Given the description of an element on the screen output the (x, y) to click on. 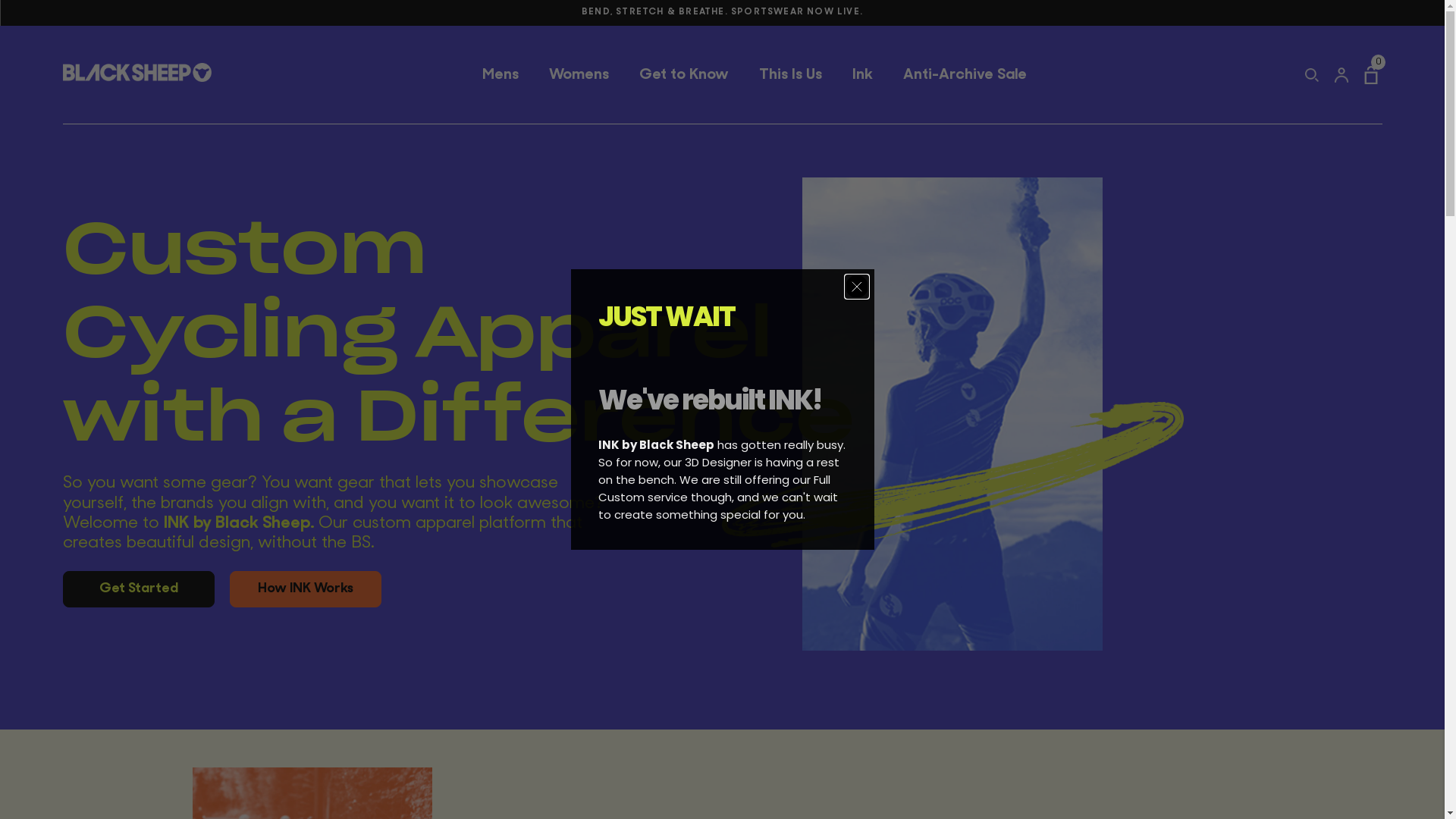
BEND, STRETCH & BREATHE. SPORTSWEAR NOW LIVE. Element type: text (721, 27)
Womens Element type: text (578, 74)
Close dialog 3 Element type: text (855, 286)
Anti-Archive Sale Element type: text (964, 74)
Mens Element type: text (500, 74)
Ink Element type: text (862, 74)
0 Element type: text (1372, 74)
Get Started Element type: text (137, 589)
FREE SHIPPING* & 30 DAY RETURNS Element type: text (721, 12)
This Is Us Element type: text (790, 74)
Submit Element type: text (26, 9)
How INK Works Element type: text (304, 589)
Get to Know Element type: text (683, 74)
